Given the description of an element on the screen output the (x, y) to click on. 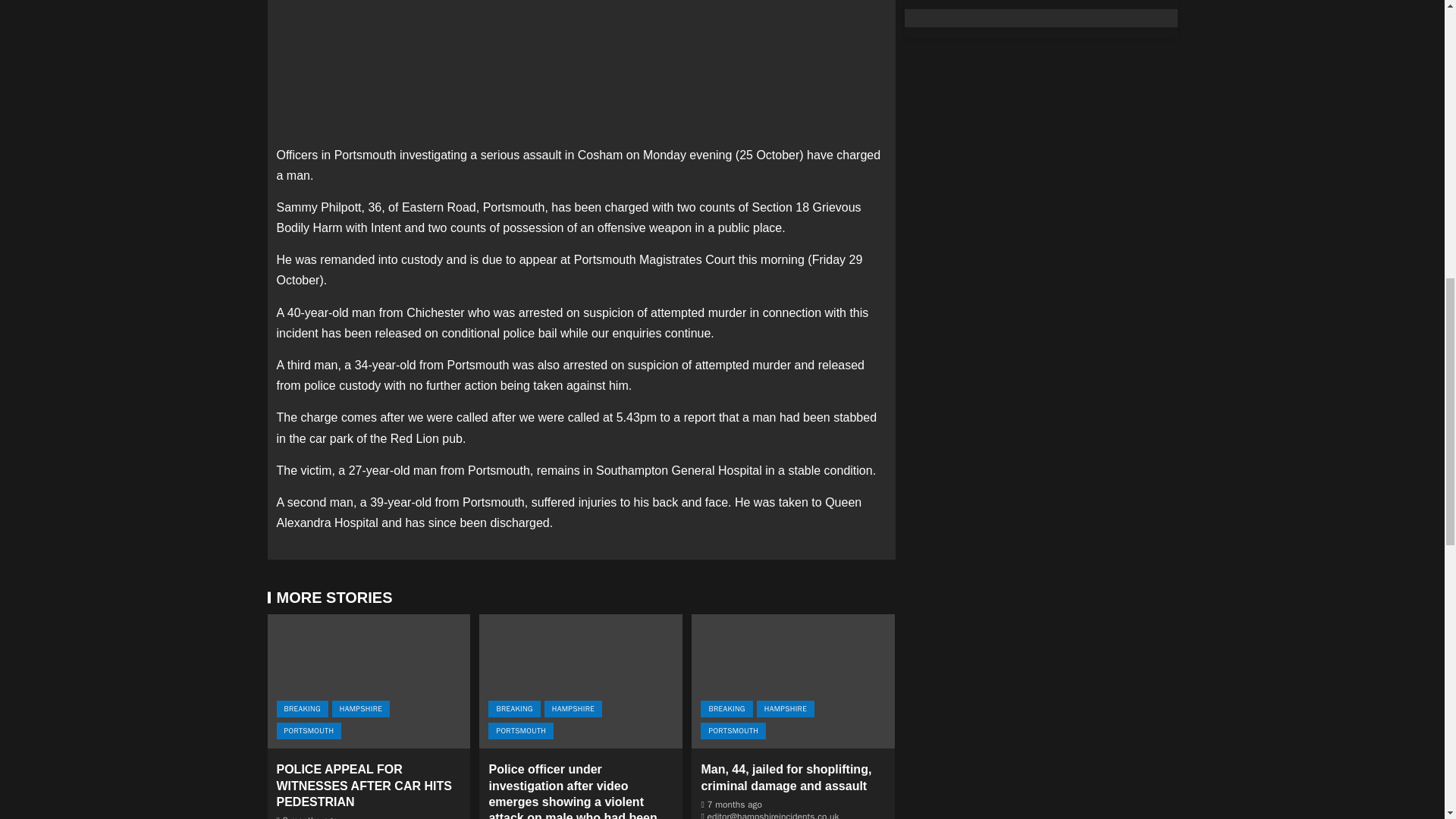
POLICE APPEAL FOR WITNESSES AFTER CAR HITS PEDESTRIAN (363, 785)
BREAKING (513, 709)
PORTSMOUTH (520, 730)
Advertisement (580, 69)
BREAKING (301, 709)
HAMPSHIRE (573, 709)
HAMPSHIRE (360, 709)
PORTSMOUTH (308, 730)
